Given the description of an element on the screen output the (x, y) to click on. 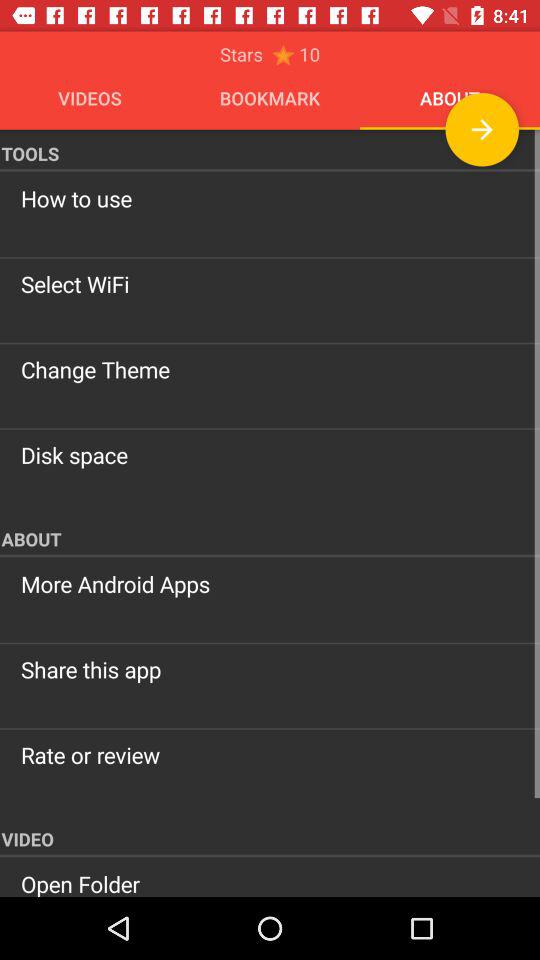
click the how to use (270, 198)
